Given the description of an element on the screen output the (x, y) to click on. 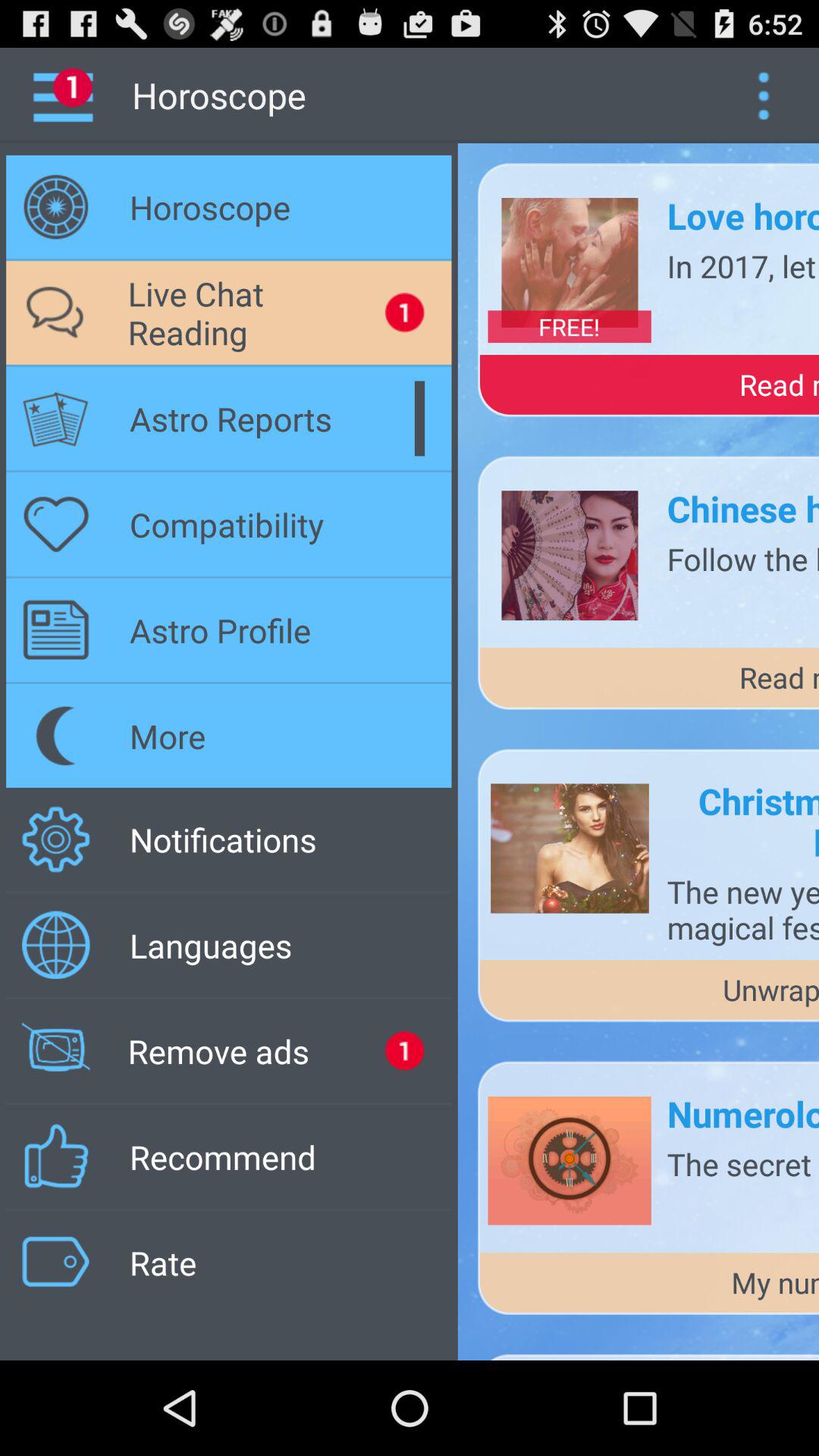
swipe until chinese horoscope 2017 icon (743, 508)
